Given the description of an element on the screen output the (x, y) to click on. 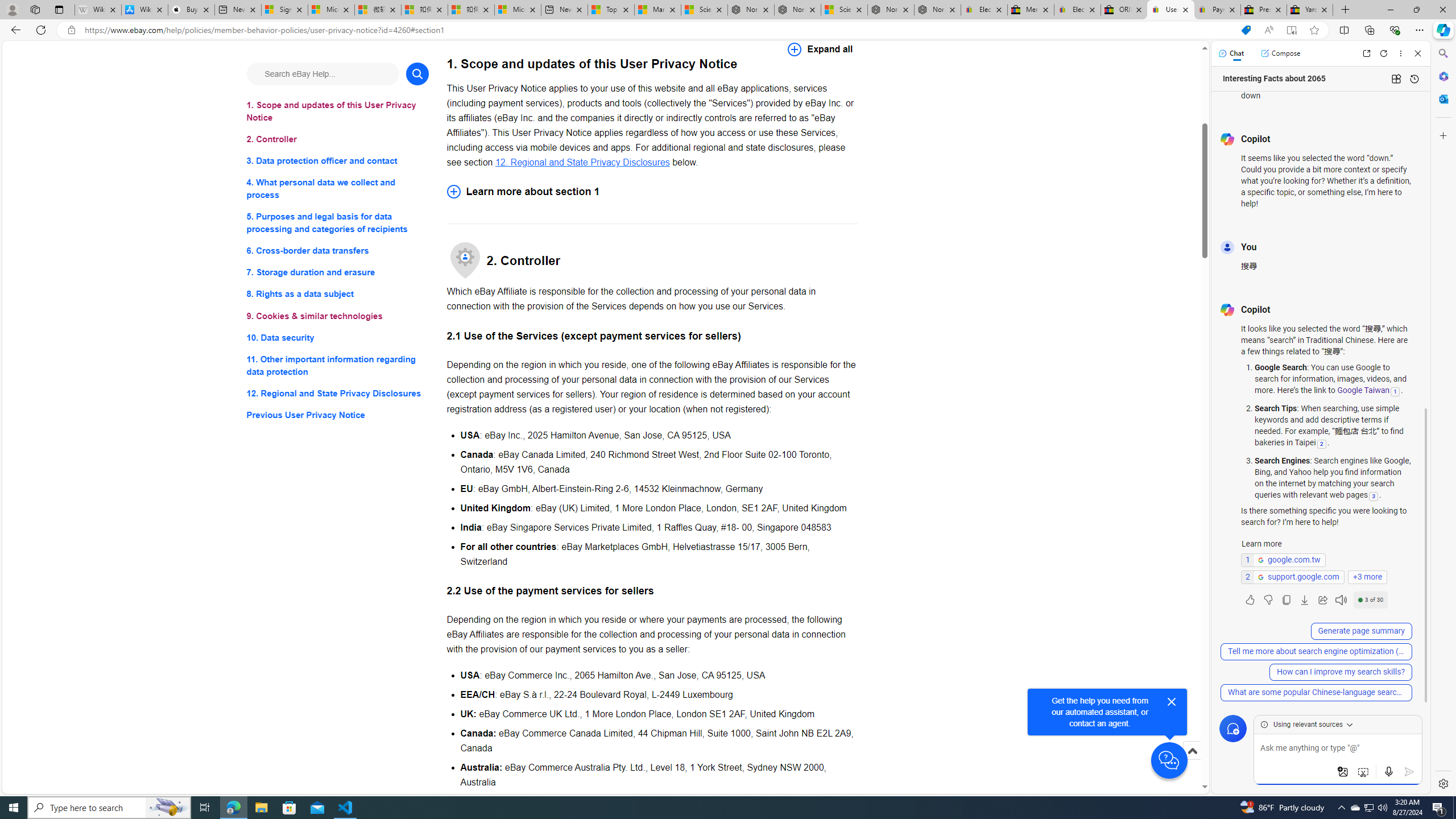
Expand all (820, 49)
7. Storage duration and erasure (337, 272)
9. Cookies & similar technologies (337, 315)
Learn more about section 1 (651, 191)
10. Data security (337, 336)
1. Scope and updates of this User Privacy Notice (337, 111)
8. Rights as a data subject (337, 293)
10. Data security (337, 336)
